Given the description of an element on the screen output the (x, y) to click on. 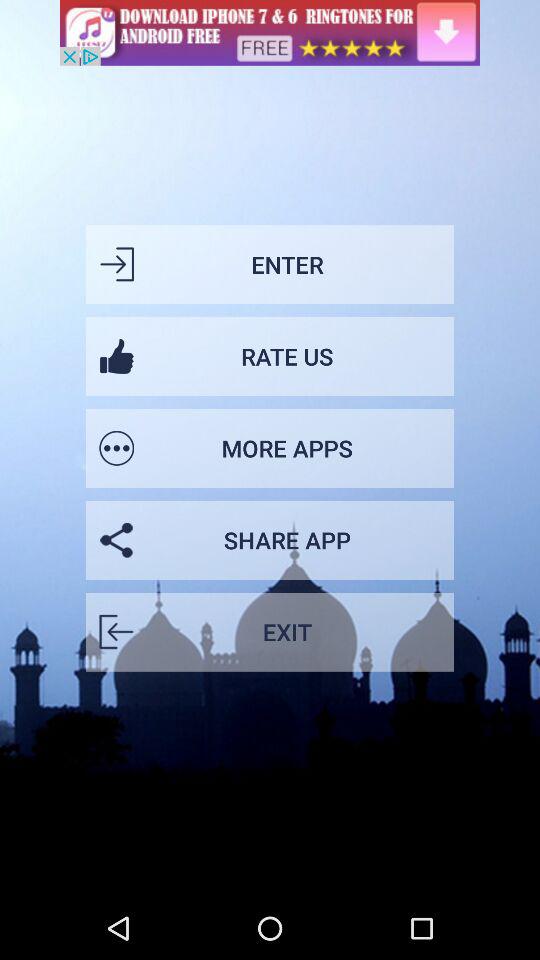
ringtone download popup (270, 32)
